Given the description of an element on the screen output the (x, y) to click on. 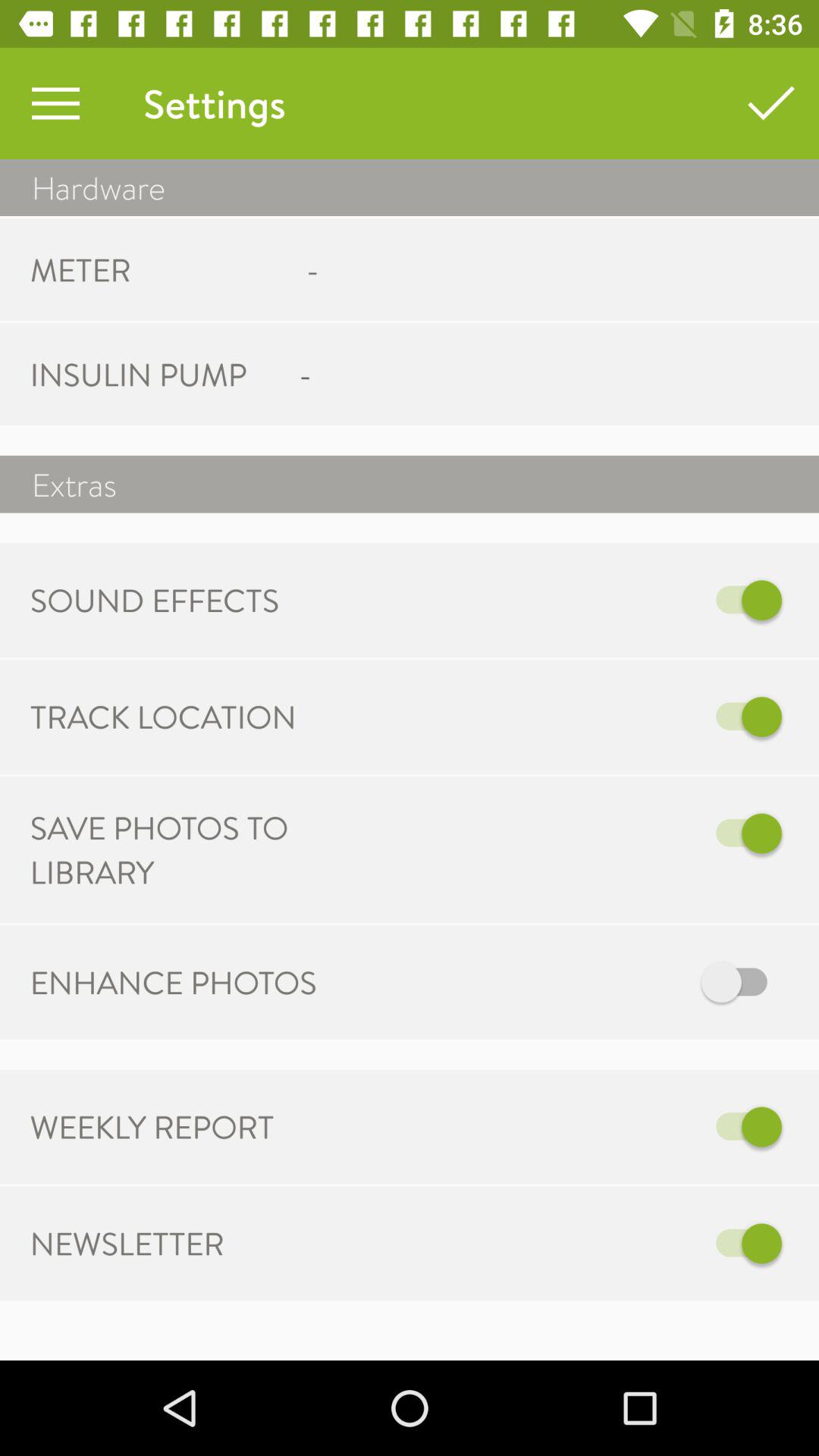
click icon below the extras icon (622, 600)
